Given the description of an element on the screen output the (x, y) to click on. 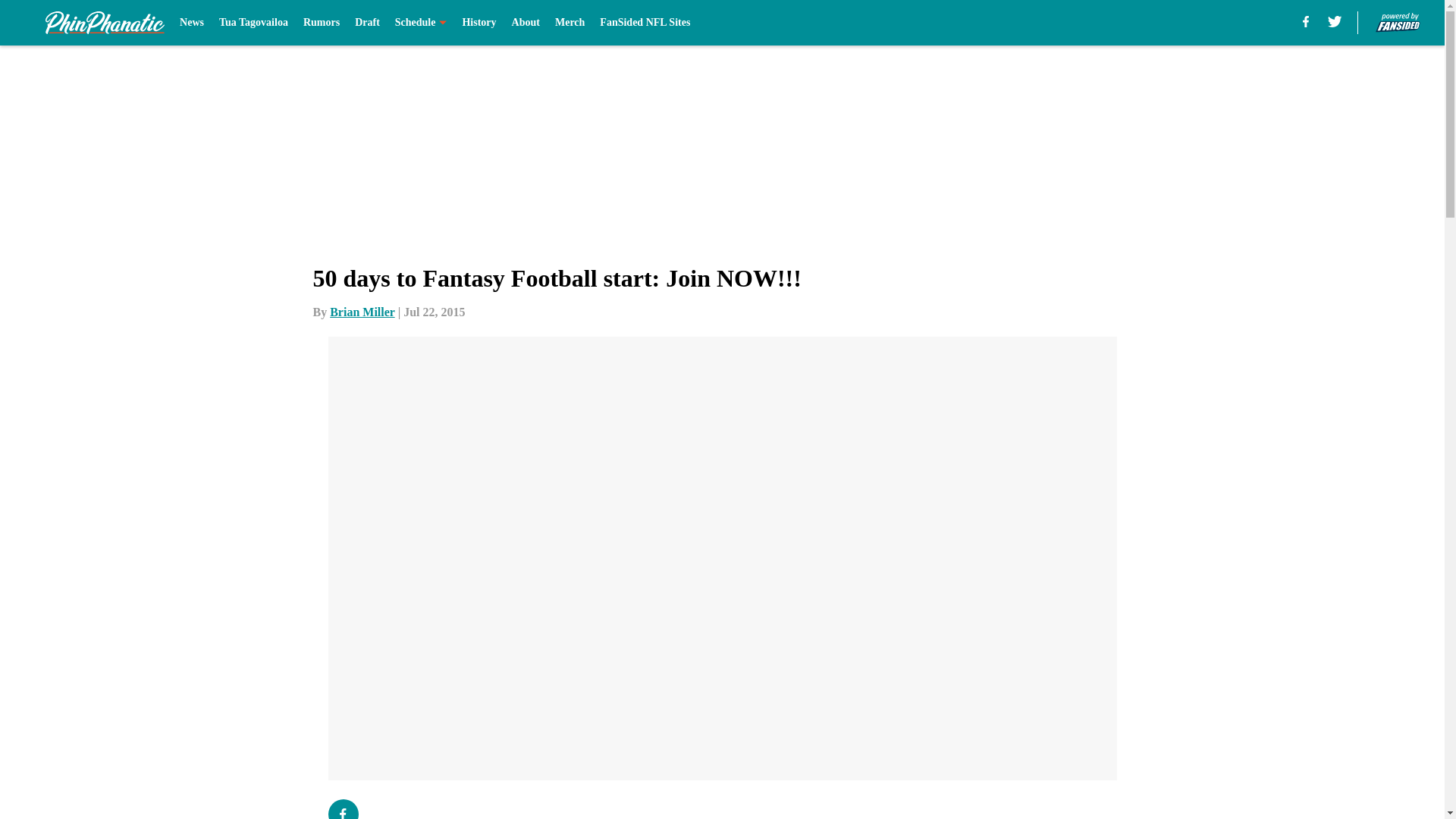
Brian Miller (362, 311)
Draft (367, 22)
History (478, 22)
Merch (569, 22)
Rumors (320, 22)
FanSided NFL Sites (644, 22)
News (191, 22)
About (526, 22)
Tua Tagovailoa (253, 22)
